Given the description of an element on the screen output the (x, y) to click on. 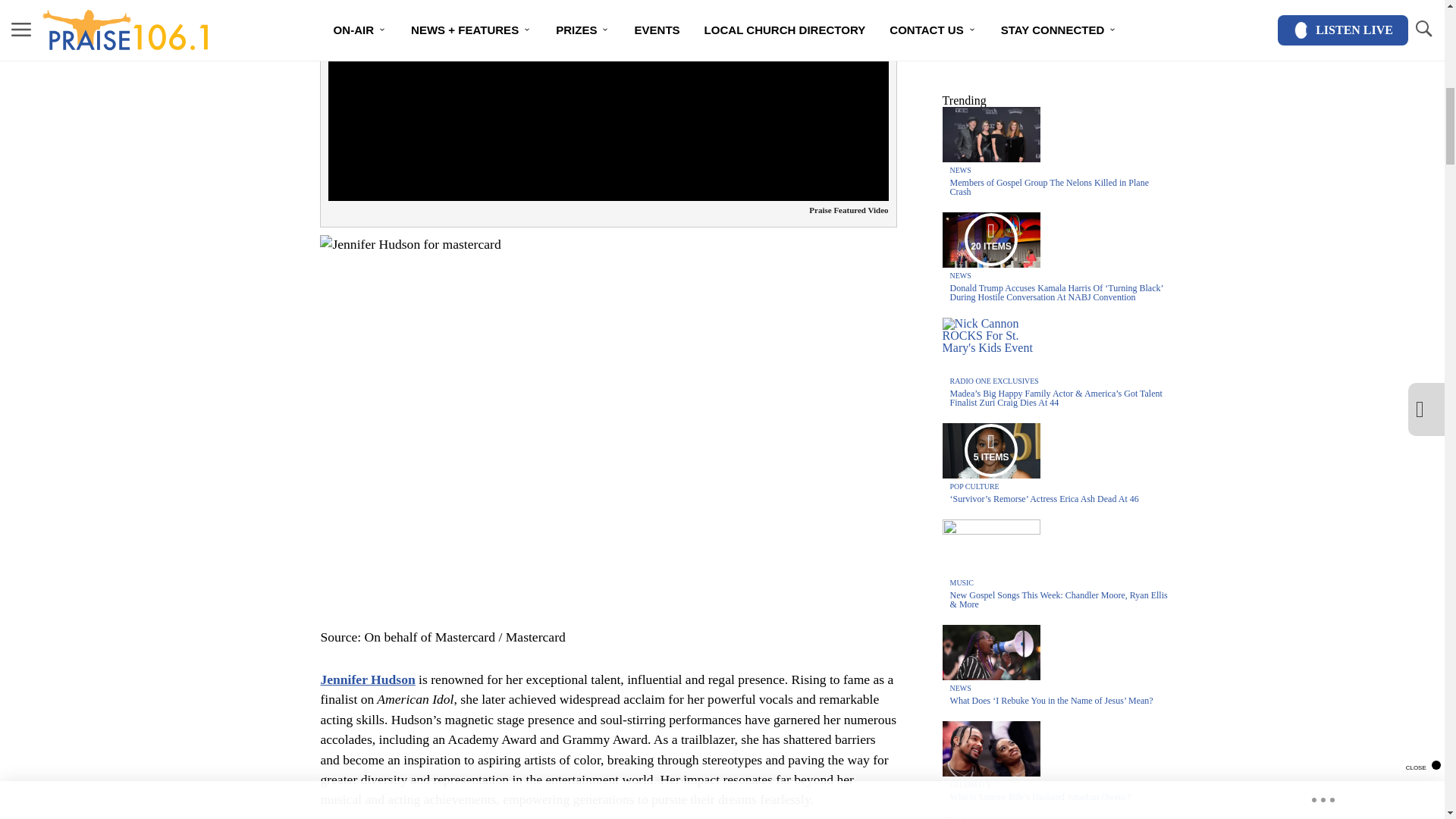
Media Playlist (990, 818)
Media Playlist (990, 239)
Media Playlist (990, 450)
